Given the description of an element on the screen output the (x, y) to click on. 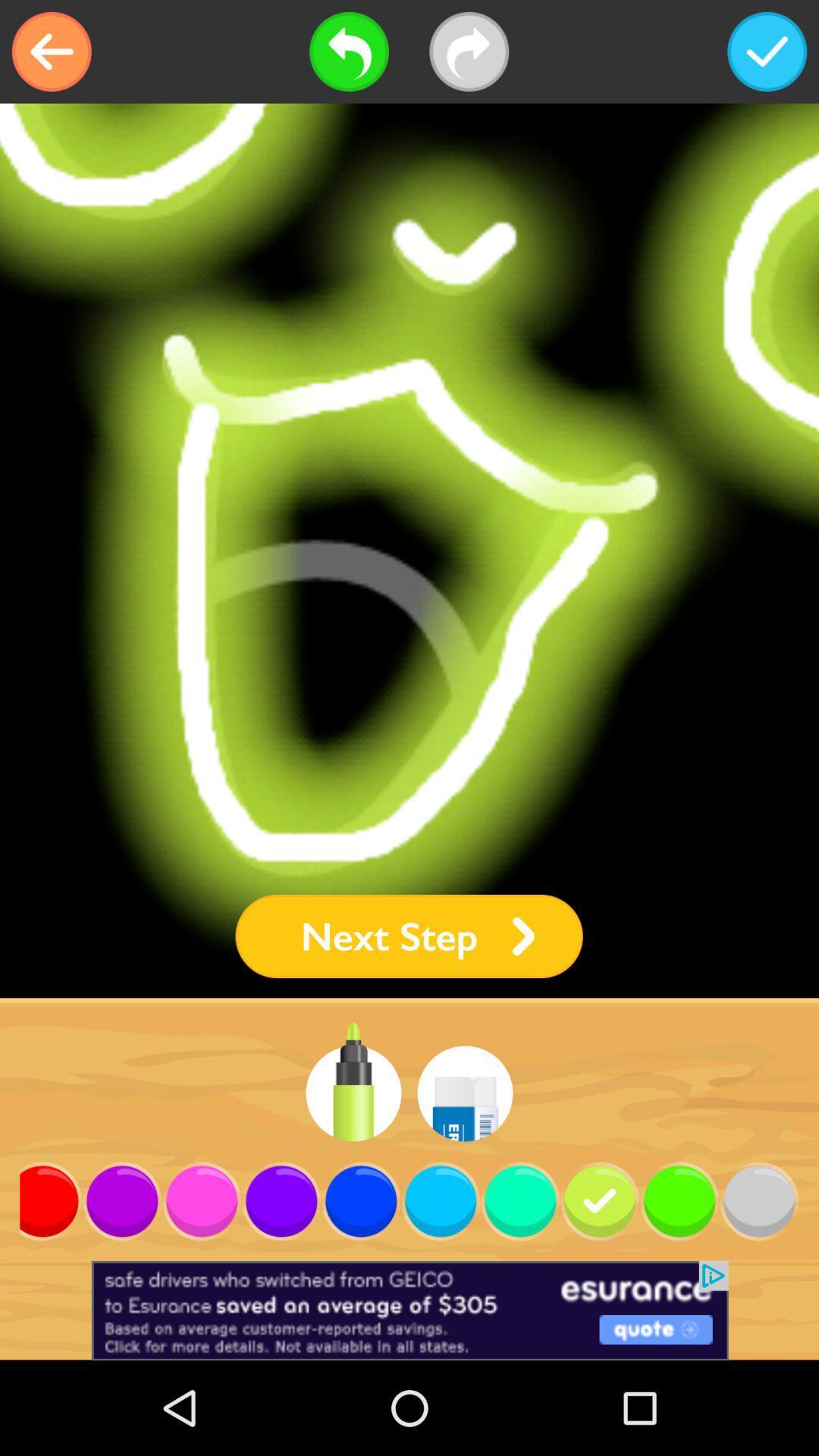
finish (767, 51)
